Given the description of an element on the screen output the (x, y) to click on. 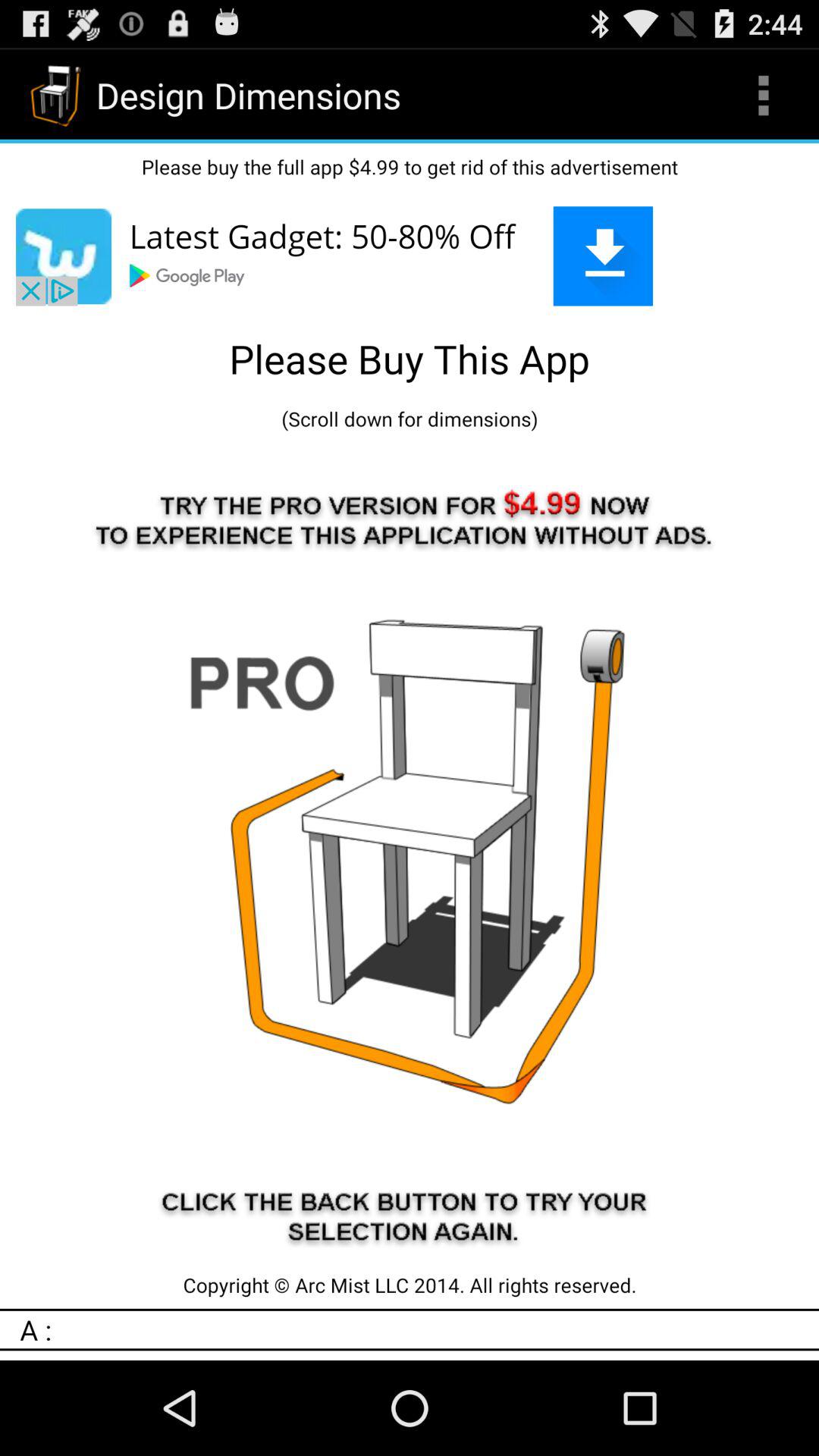
press icon below please buy the app (409, 255)
